Given the description of an element on the screen output the (x, y) to click on. 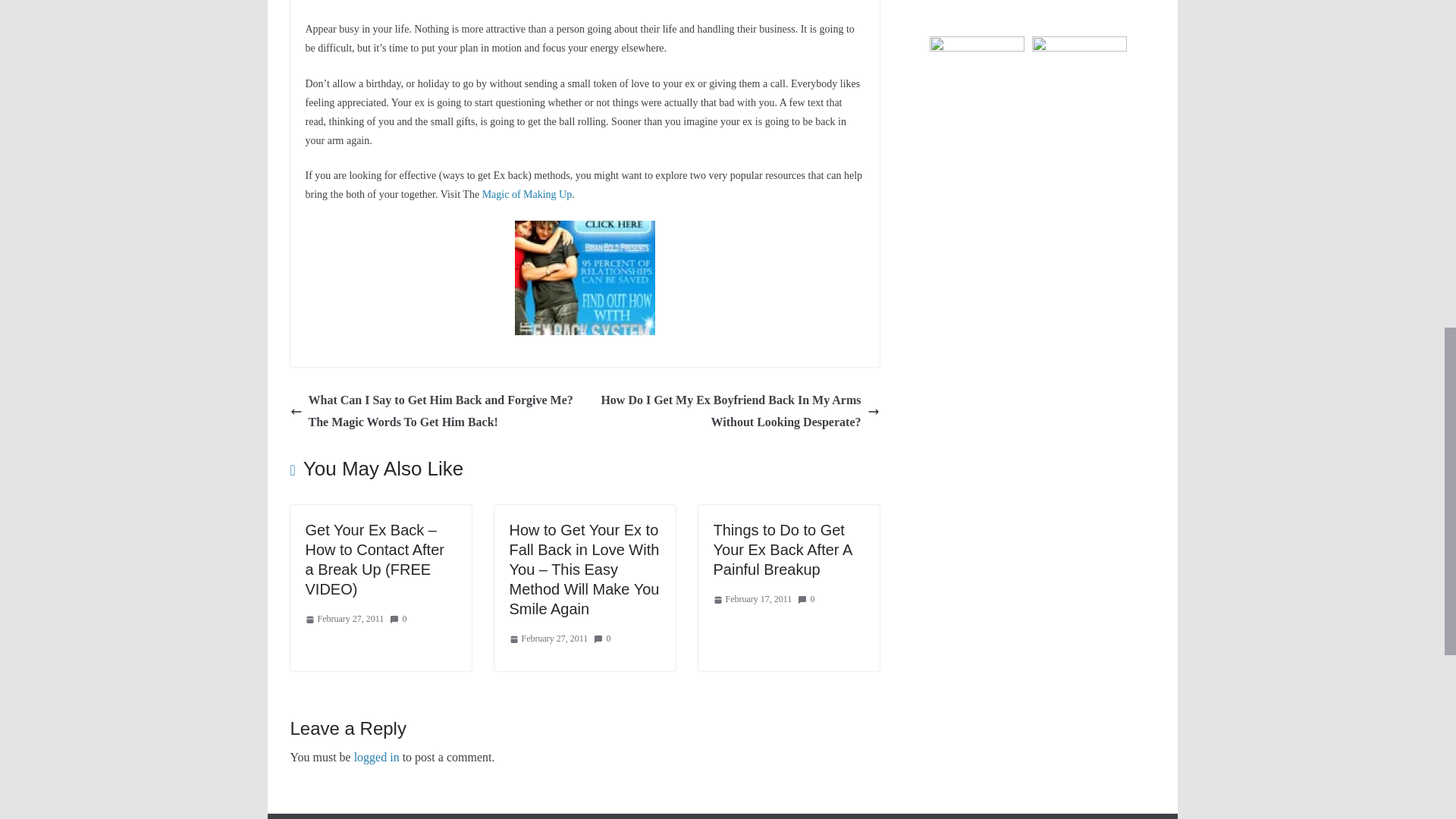
3:47 am (344, 619)
1:17 am (548, 638)
Magic of Making Up (526, 194)
